Given the description of an element on the screen output the (x, y) to click on. 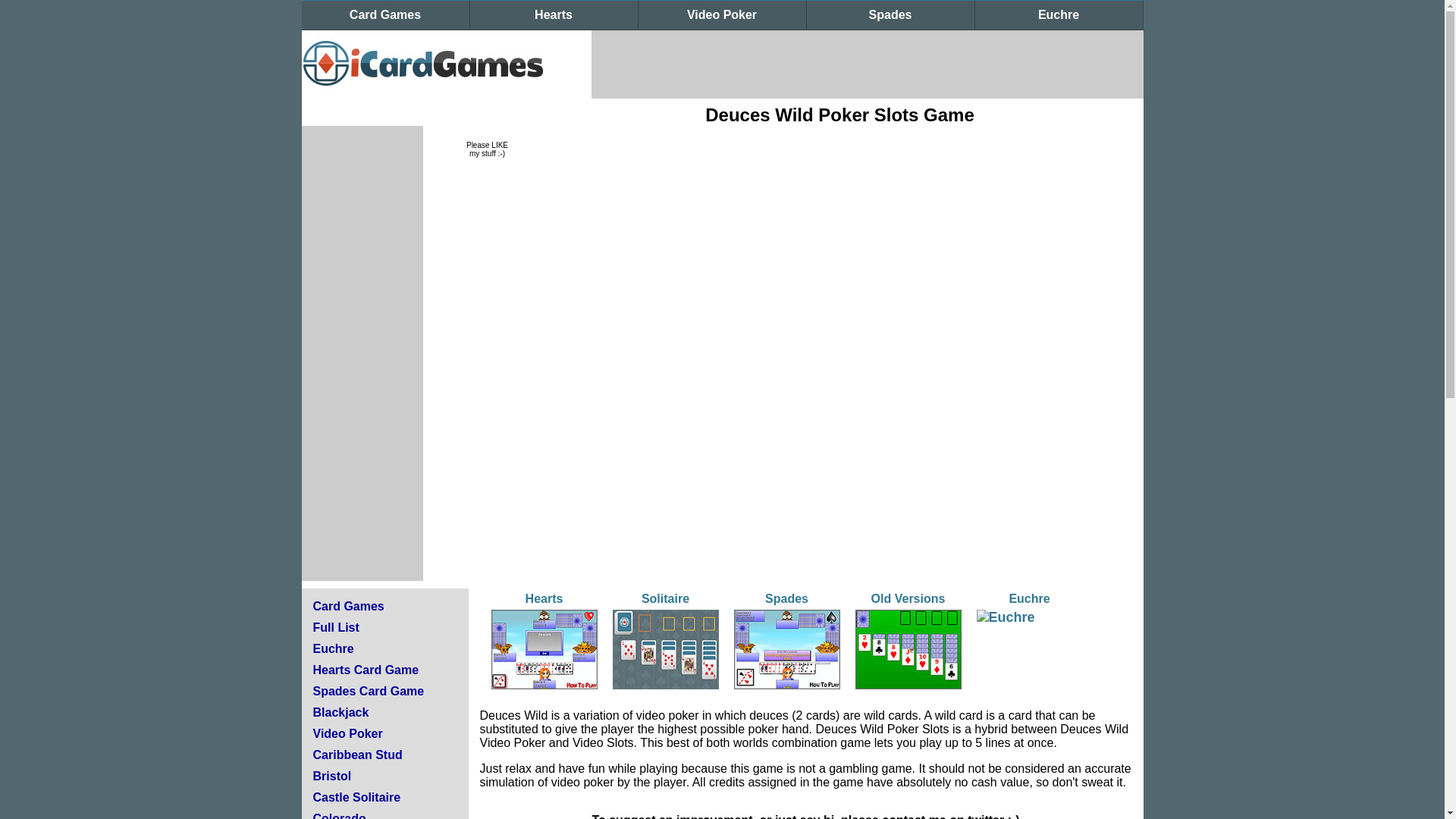
Caribbean Stud (357, 754)
Advertisement (866, 64)
Colorado (339, 815)
Video Poker (347, 733)
Hearts (554, 15)
Card Games (385, 15)
Castle Solitaire (356, 797)
Spades (890, 15)
Hearts Card Game (366, 669)
Spades Card Game (368, 690)
Video Poker (722, 15)
Full List (335, 626)
Blackjack (340, 712)
Card Games (348, 605)
Euchre (1058, 15)
